Given the description of an element on the screen output the (x, y) to click on. 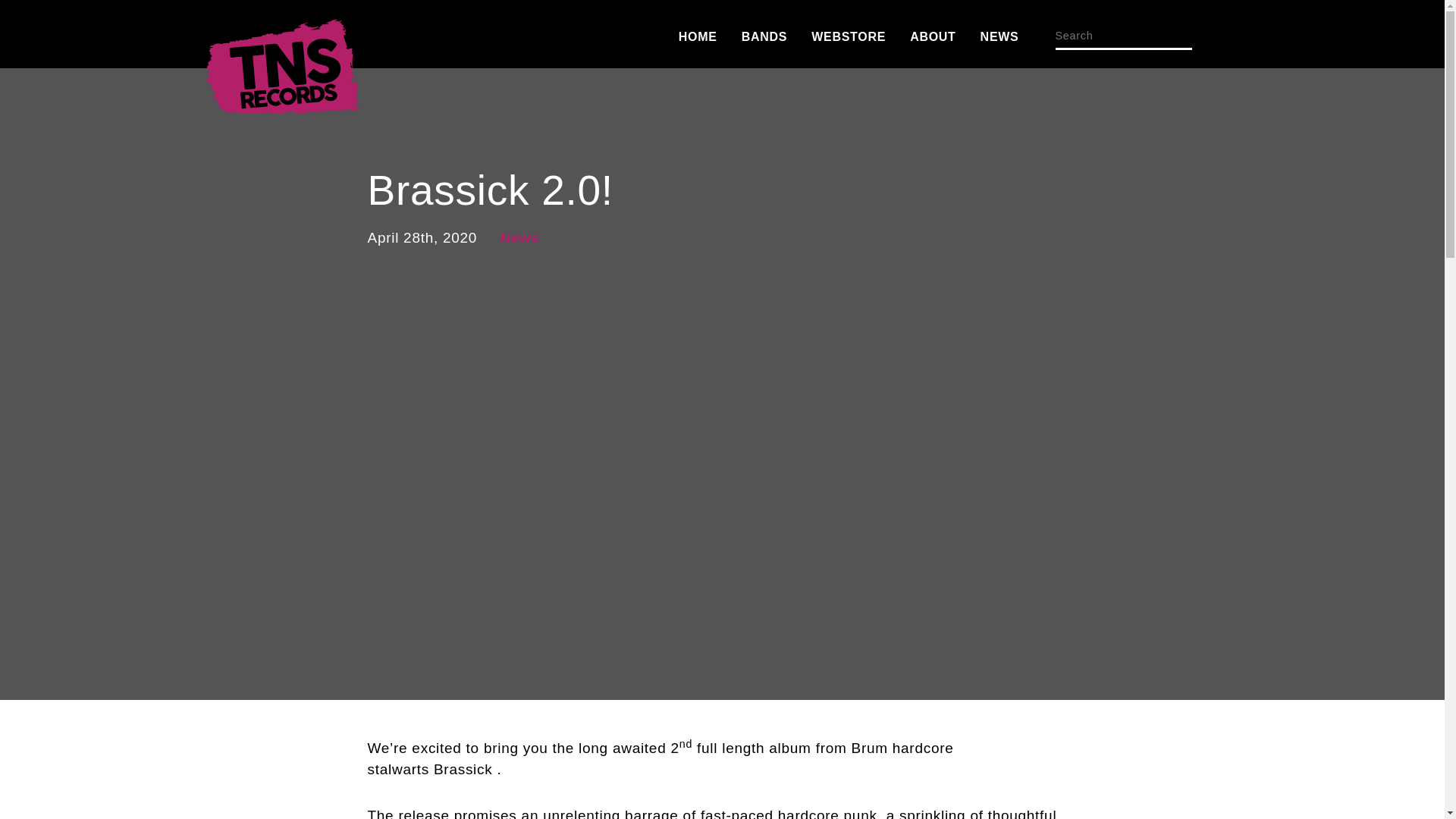
News (519, 237)
NEWS (999, 36)
WEBSTORE (847, 36)
HOME (697, 36)
TNSrecords Home (280, 70)
ABOUT (932, 36)
BANDS (764, 36)
